Given the description of an element on the screen output the (x, y) to click on. 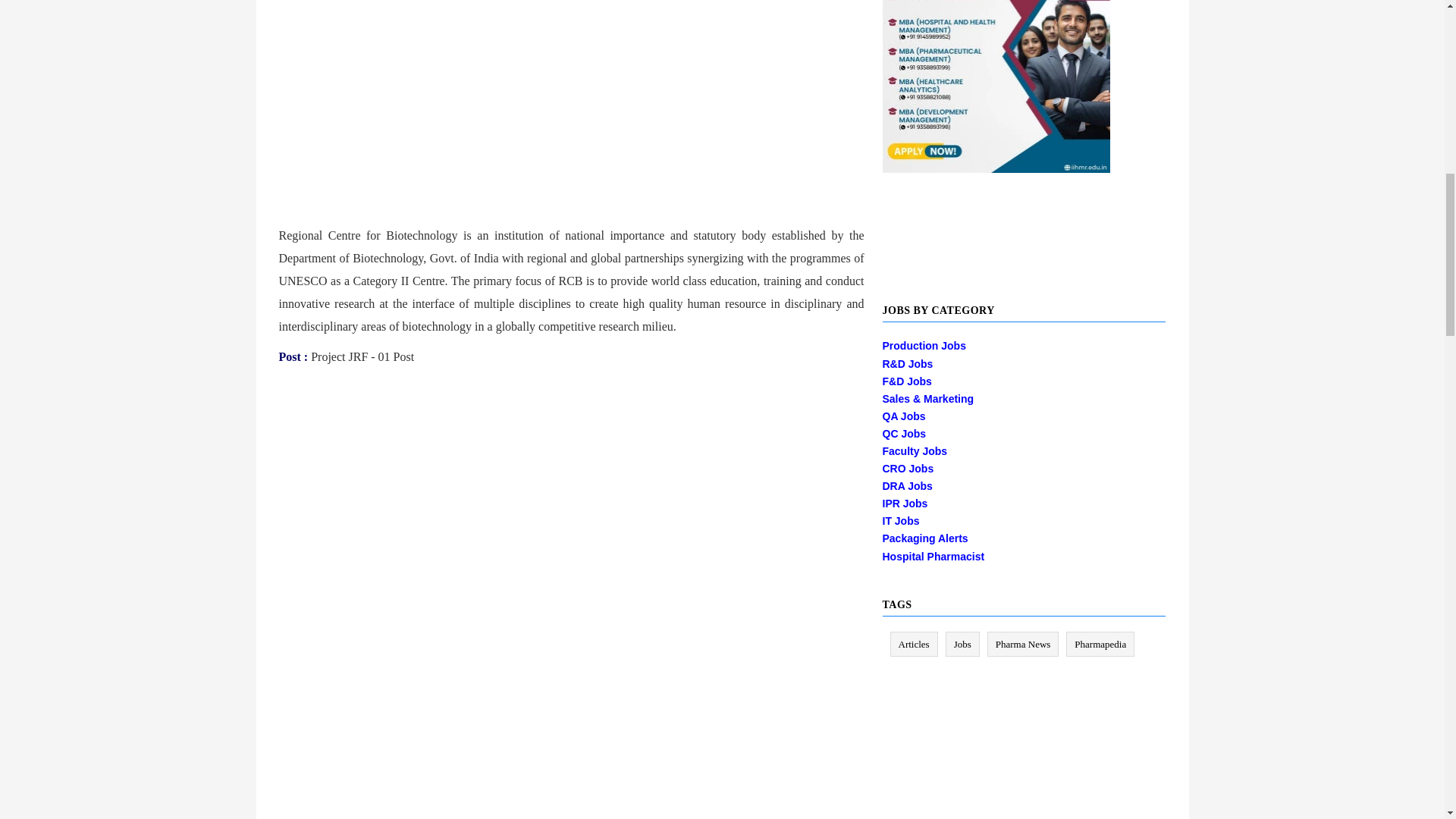
Advertisement (571, 81)
Advertisement (406, 709)
